Given the description of an element on the screen output the (x, y) to click on. 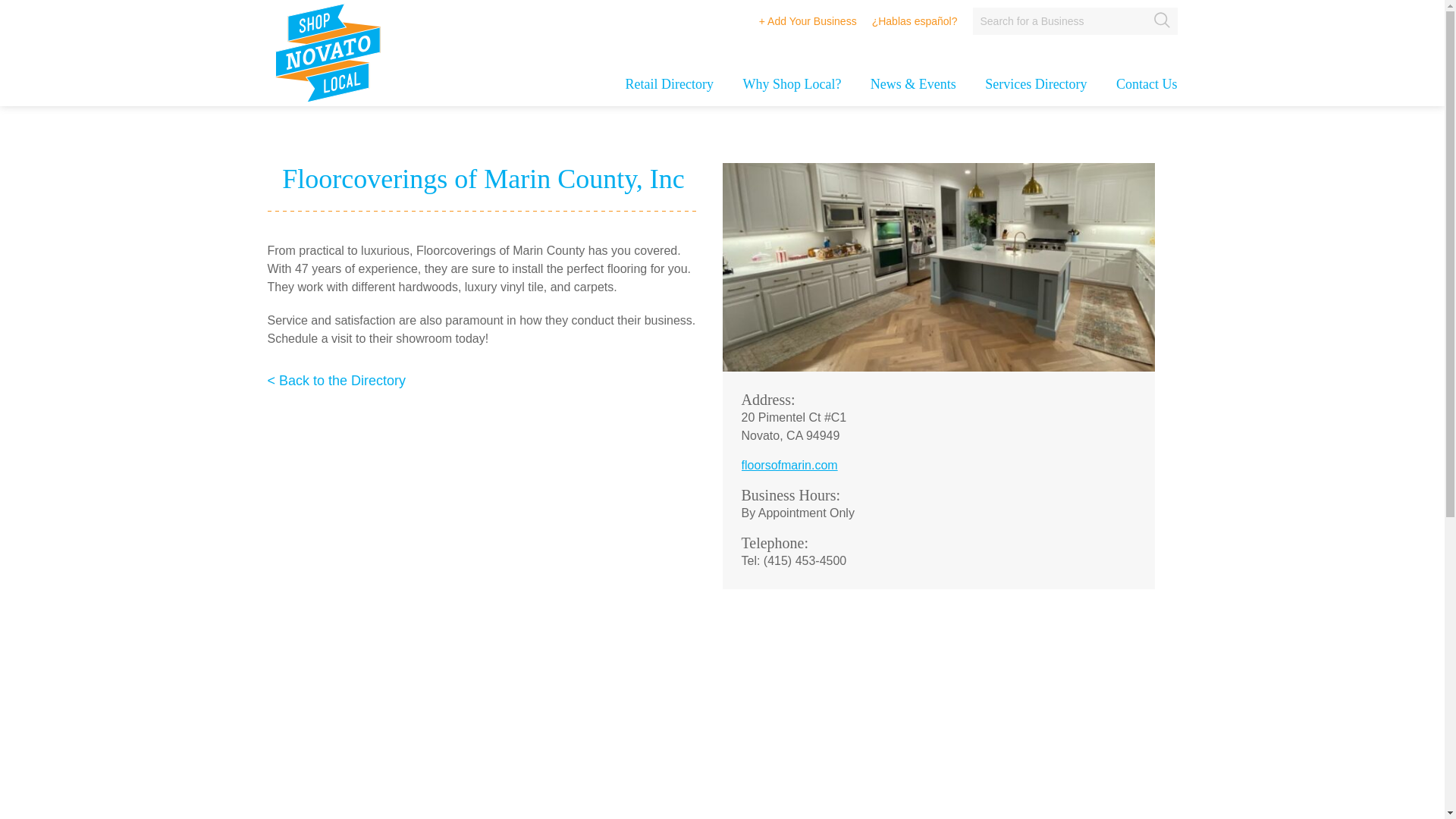
floorsofmarin.com (865, 465)
Why Shop Local? (791, 91)
Contact Us (1146, 91)
Retail Directory (669, 91)
Services Directory (1035, 91)
